Given the description of an element on the screen output the (x, y) to click on. 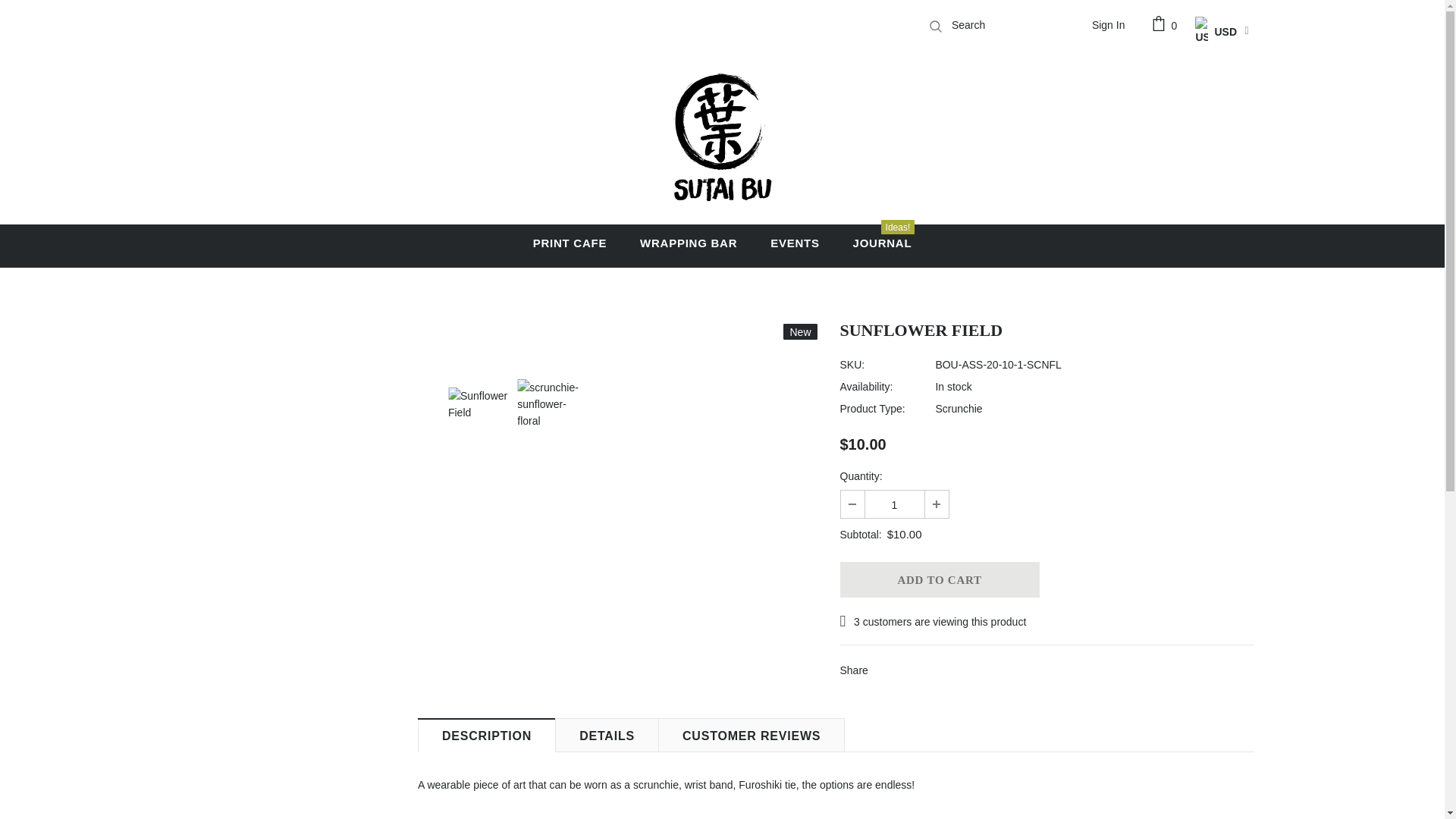
Add to Cart (939, 579)
1 (893, 503)
Cart Icon (1165, 24)
